Given the description of an element on the screen output the (x, y) to click on. 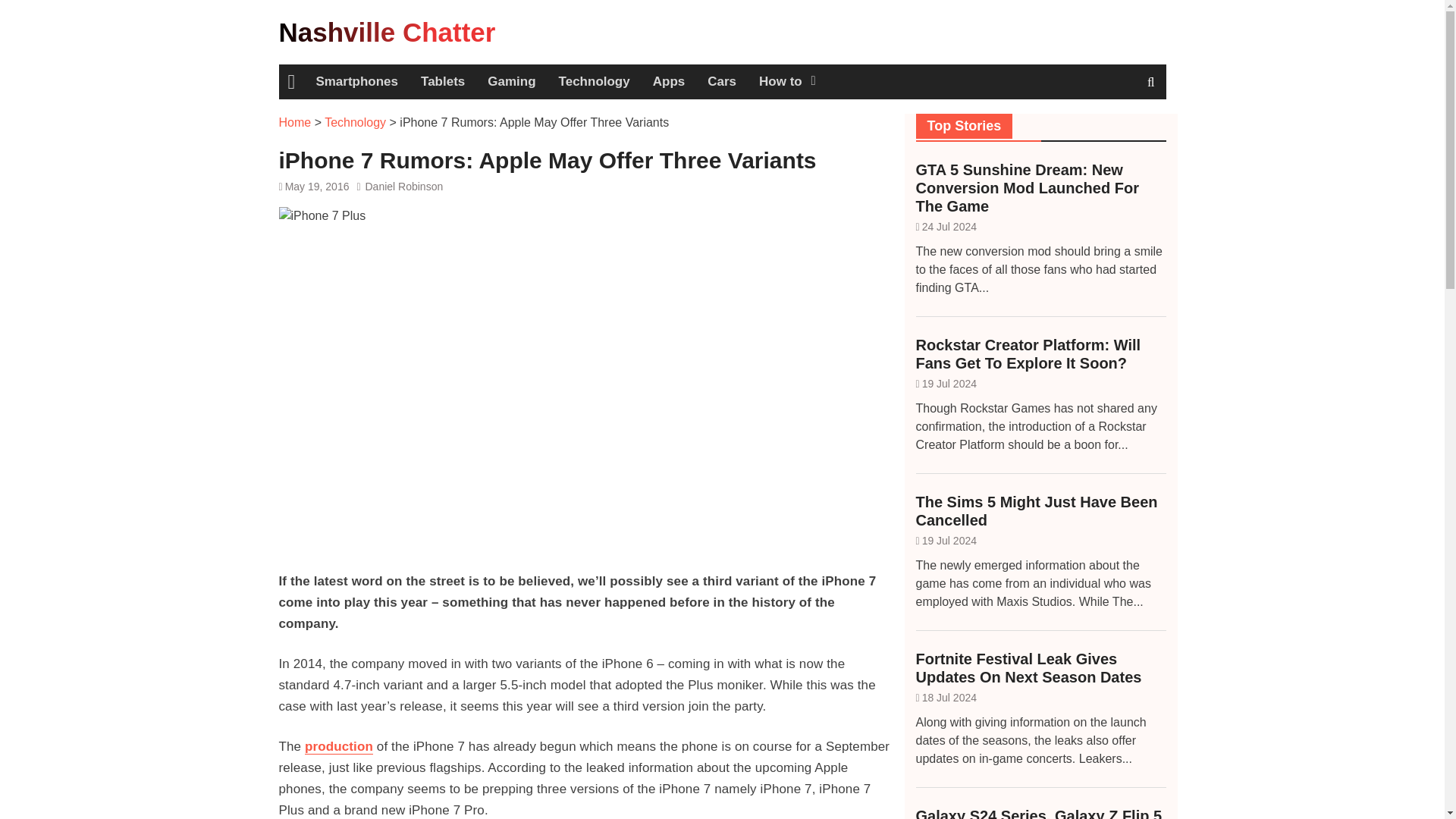
Gaming (511, 81)
Technology (594, 81)
Daniel Robinson (403, 186)
Cars (721, 81)
Tablets (442, 81)
How to (786, 81)
Technology (354, 122)
Home (291, 81)
Home (295, 122)
production (338, 746)
Rockstar Creator Platform: Will Fans Get To Explore It Soon? (1040, 353)
Smartphones (356, 81)
Apps (669, 81)
Nashville Chatter (387, 31)
